Given the description of an element on the screen output the (x, y) to click on. 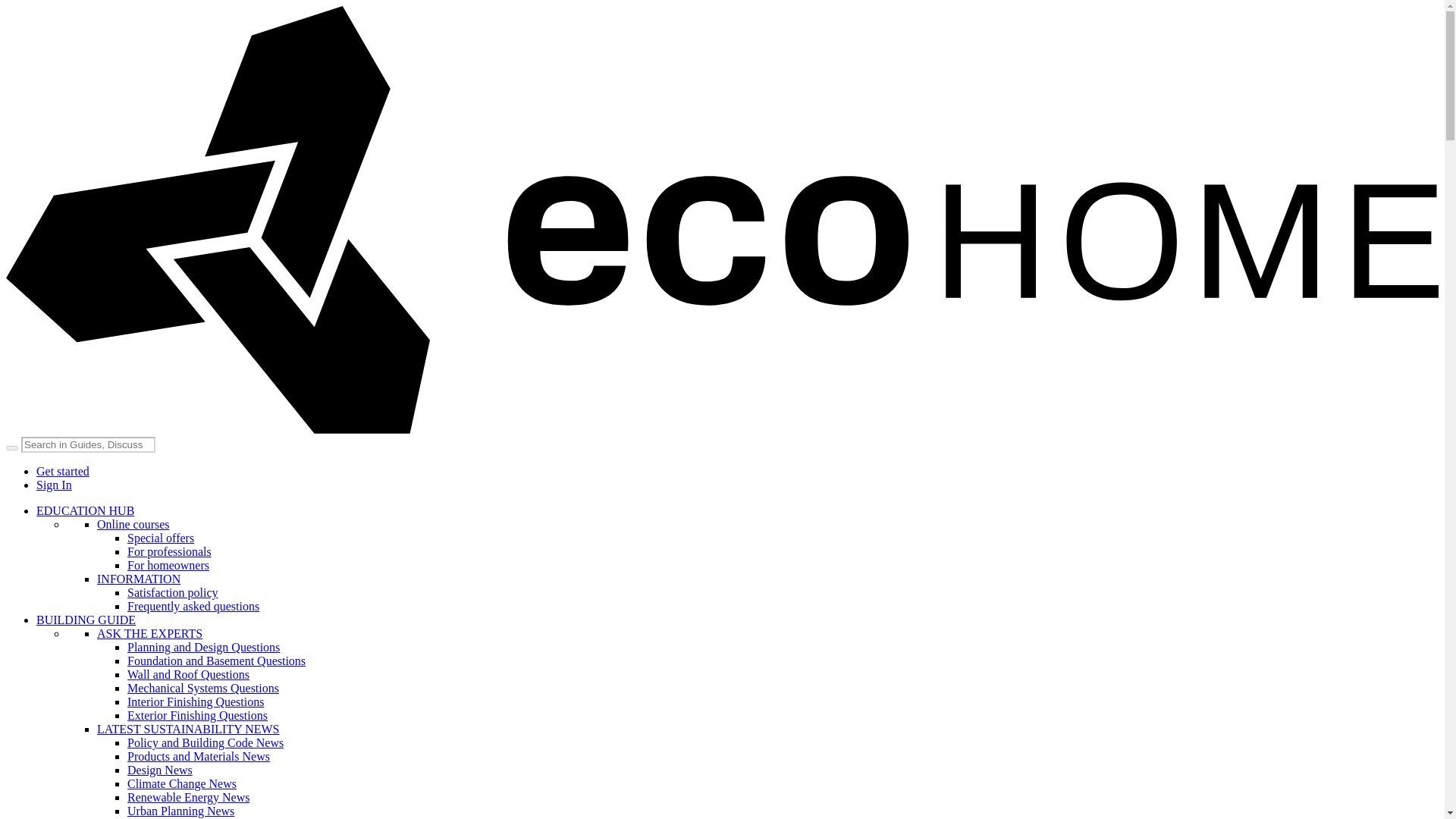
Get started (62, 471)
Renewable Energy News (188, 797)
Mechanical Systems Questions (203, 687)
EDUCATION HUB (84, 510)
Products and Materials News (198, 756)
Special offers (160, 537)
BUILDING GUIDE (85, 619)
Wall and Roof Questions (188, 674)
ASK THE EXPERTS (149, 633)
Interior Finishing Questions (195, 701)
Frequently asked questions (193, 605)
For homeowners (168, 564)
LATEST SUSTAINABILITY NEWS (188, 728)
For professionals (169, 551)
